Given the description of an element on the screen output the (x, y) to click on. 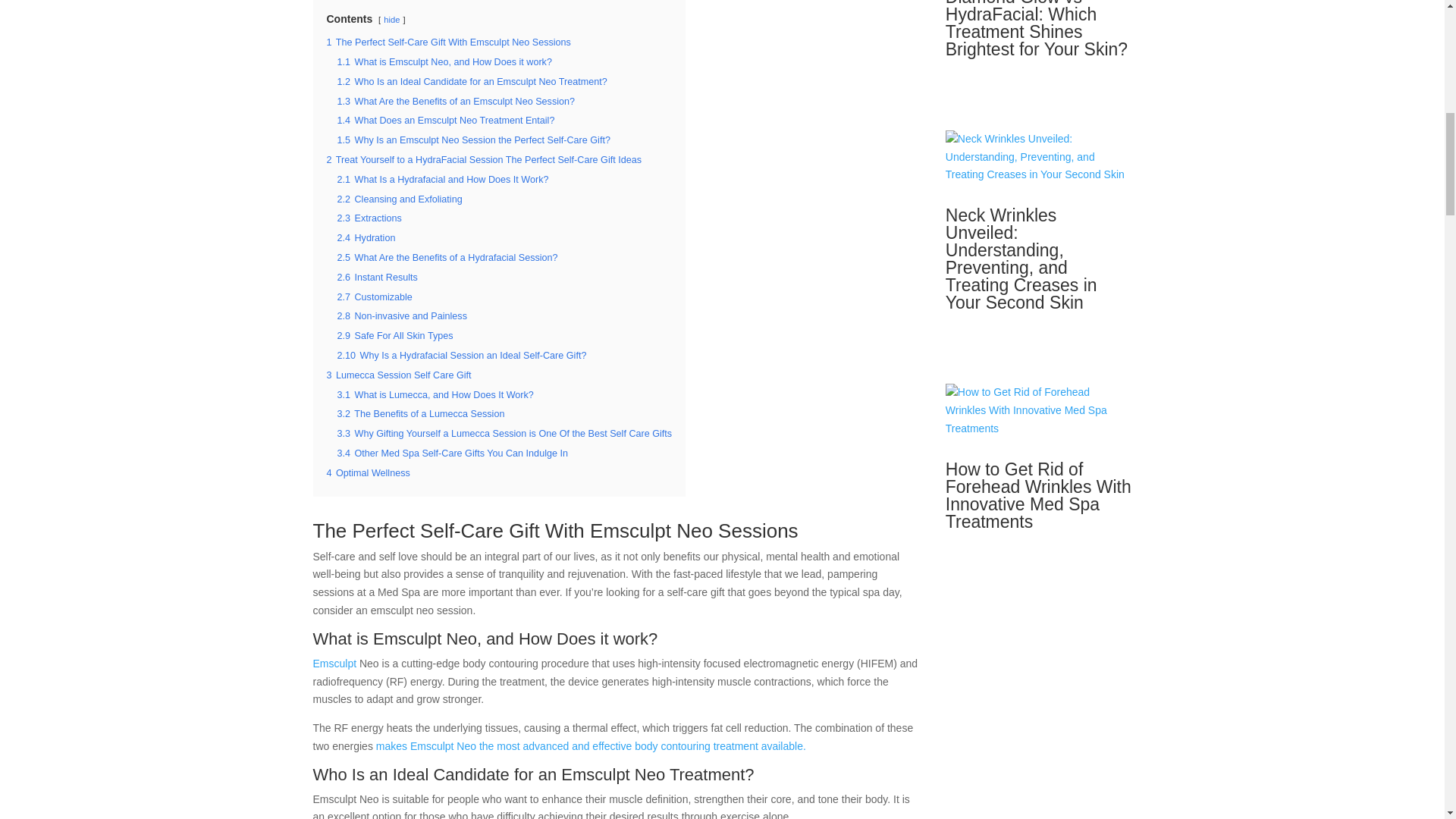
3.1 What is Lumecca, and How Does It Work? (434, 394)
1 The Perfect Self-Care Gift With Emsculpt Neo Sessions (448, 41)
4 Optimal Wellness (367, 472)
1.1 What is Emsculpt Neo, and How Does it work? (443, 61)
3.4 Other Med Spa Self-Care Gifts You Can Indulge In (451, 452)
2.10 Why Is a Hydrafacial Session an Ideal Self-Care Gift? (461, 355)
1.4 What Does an Emsculpt Neo Treatment Entail? (445, 120)
2.9 Safe For All Skin Types (394, 335)
3.2 The Benefits of a Lumecca Session (419, 413)
1.2 Who Is an Ideal Candidate for an Emsculpt Neo Treatment? (471, 81)
